Given the description of an element on the screen output the (x, y) to click on. 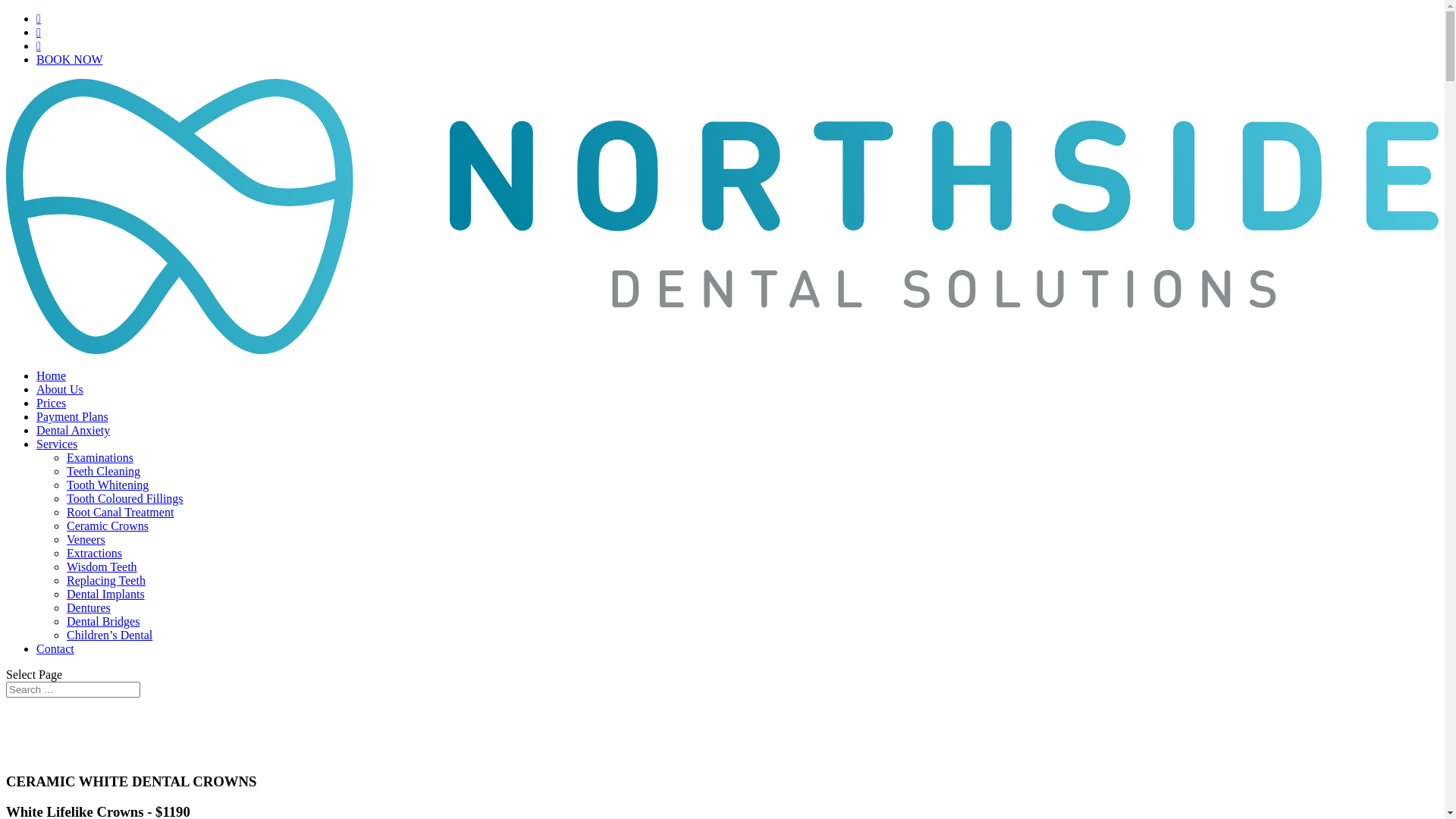
Ceramic Crowns Element type: text (107, 525)
Dental Anxiety Element type: text (72, 429)
Veneers Element type: text (85, 539)
BOOK NOW Element type: text (69, 59)
Replacing Teeth Element type: text (105, 580)
Search for: Element type: hover (73, 689)
Extractions Element type: text (94, 552)
Dental Bridges Element type: text (102, 621)
Tooth Coloured Fillings Element type: text (124, 498)
Dental Implants Element type: text (105, 593)
Root Canal Treatment Element type: text (119, 511)
Payment Plans Element type: text (72, 416)
Wisdom Teeth Element type: text (101, 566)
Tooth Whitening Element type: text (107, 484)
About Us Element type: text (59, 388)
Home Element type: text (50, 375)
Contact Element type: text (55, 648)
Dentures Element type: text (88, 607)
Examinations Element type: text (99, 457)
Services Element type: text (56, 443)
Prices Element type: text (50, 402)
Teeth Cleaning Element type: text (103, 470)
